Given the description of an element on the screen output the (x, y) to click on. 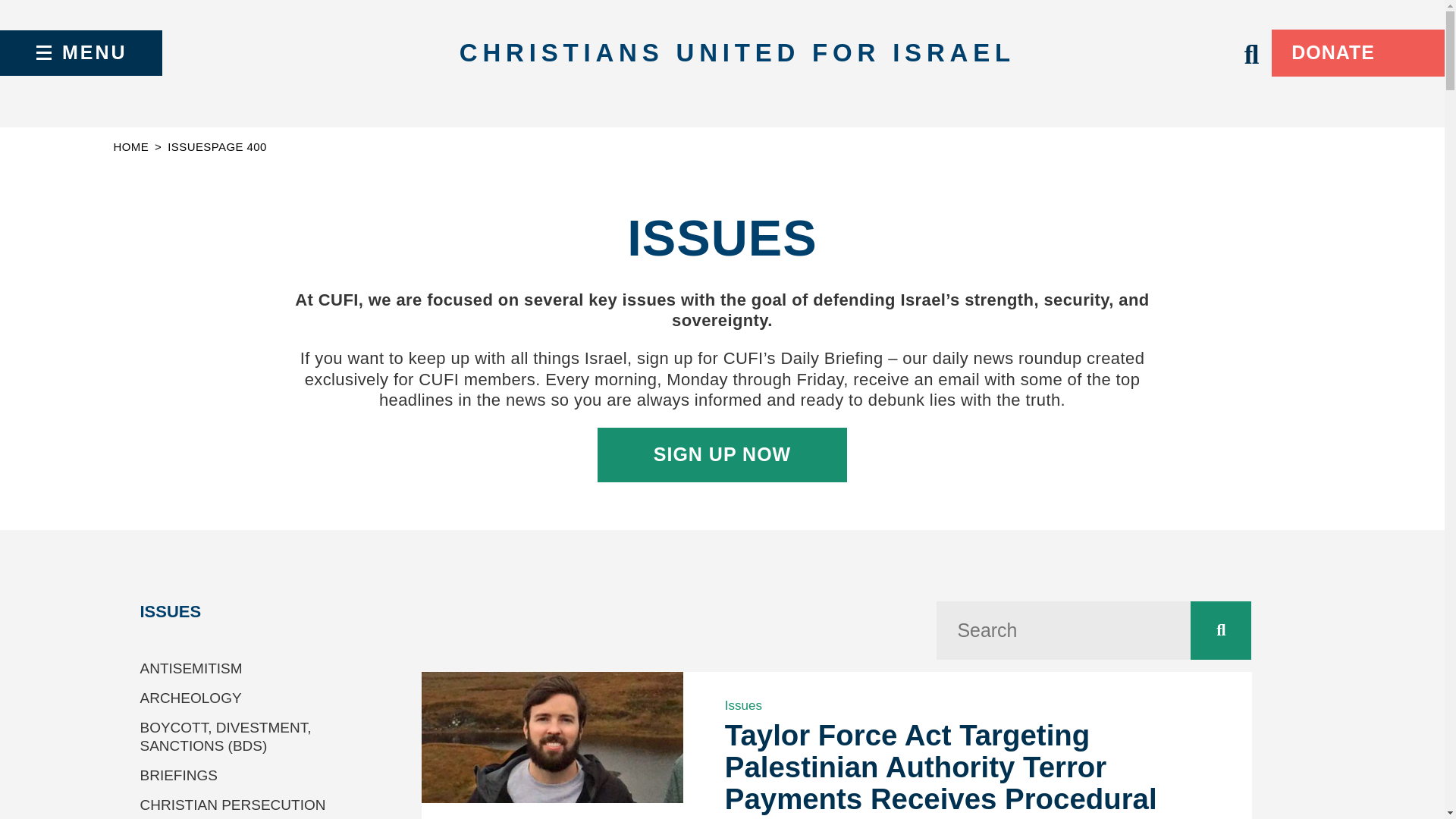
MENU (80, 53)
